Given the description of an element on the screen output the (x, y) to click on. 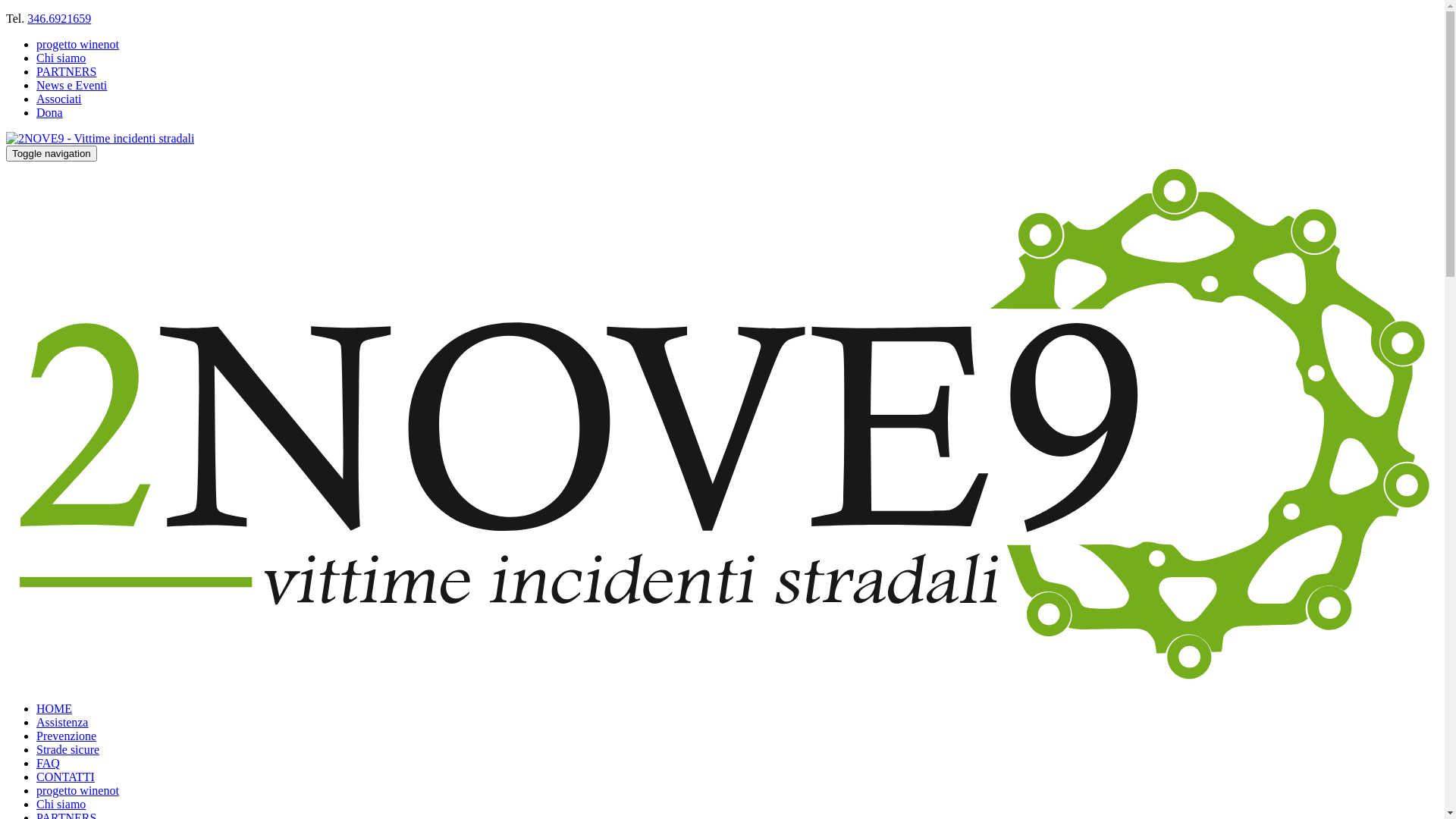
Toggle navigation Element type: text (51, 153)
title-link-home Element type: hover (722, 682)
progetto winenot Element type: text (77, 43)
Associati Element type: text (58, 98)
Chi siamo Element type: text (60, 57)
Strade sicure Element type: text (67, 749)
CONTATTI Element type: text (65, 776)
HOME Element type: text (54, 708)
Assistenza Element type: text (61, 721)
Chi siamo Element type: text (60, 803)
Prevenzione Element type: text (66, 735)
346.6921659 Element type: text (59, 18)
PARTNERS Element type: text (66, 71)
title-link-home Element type: hover (100, 137)
progetto winenot Element type: text (77, 790)
FAQ Element type: text (47, 762)
News e Eventi Element type: text (71, 84)
Dona Element type: text (49, 112)
